Given the description of an element on the screen output the (x, y) to click on. 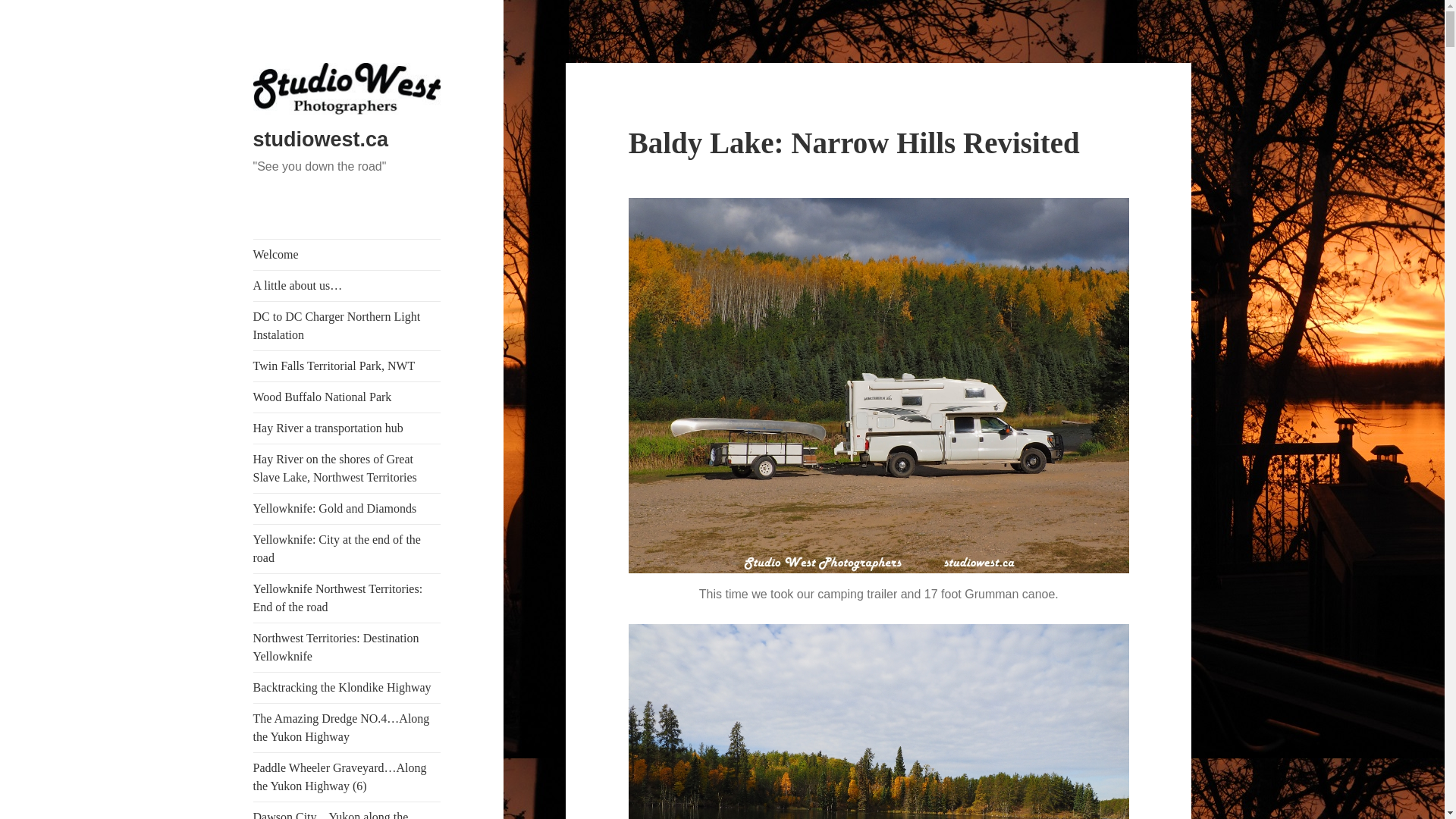
Wood Buffalo National Park (347, 397)
Hay River a transportation hub (347, 428)
Yellowknife Northwest Territories: End of the road (347, 598)
DC to DC Charger Northern Light Instalation (347, 326)
Yellowknife: City at the end of the road (347, 548)
Twin Falls Territorial Park, NWT (347, 366)
Yellowknife: Gold and Diamonds (347, 508)
Welcome (347, 254)
studiowest.ca (320, 138)
Northwest Territories: Destination Yellowknife (347, 647)
Backtracking the Klondike Highway (347, 687)
